Given the description of an element on the screen output the (x, y) to click on. 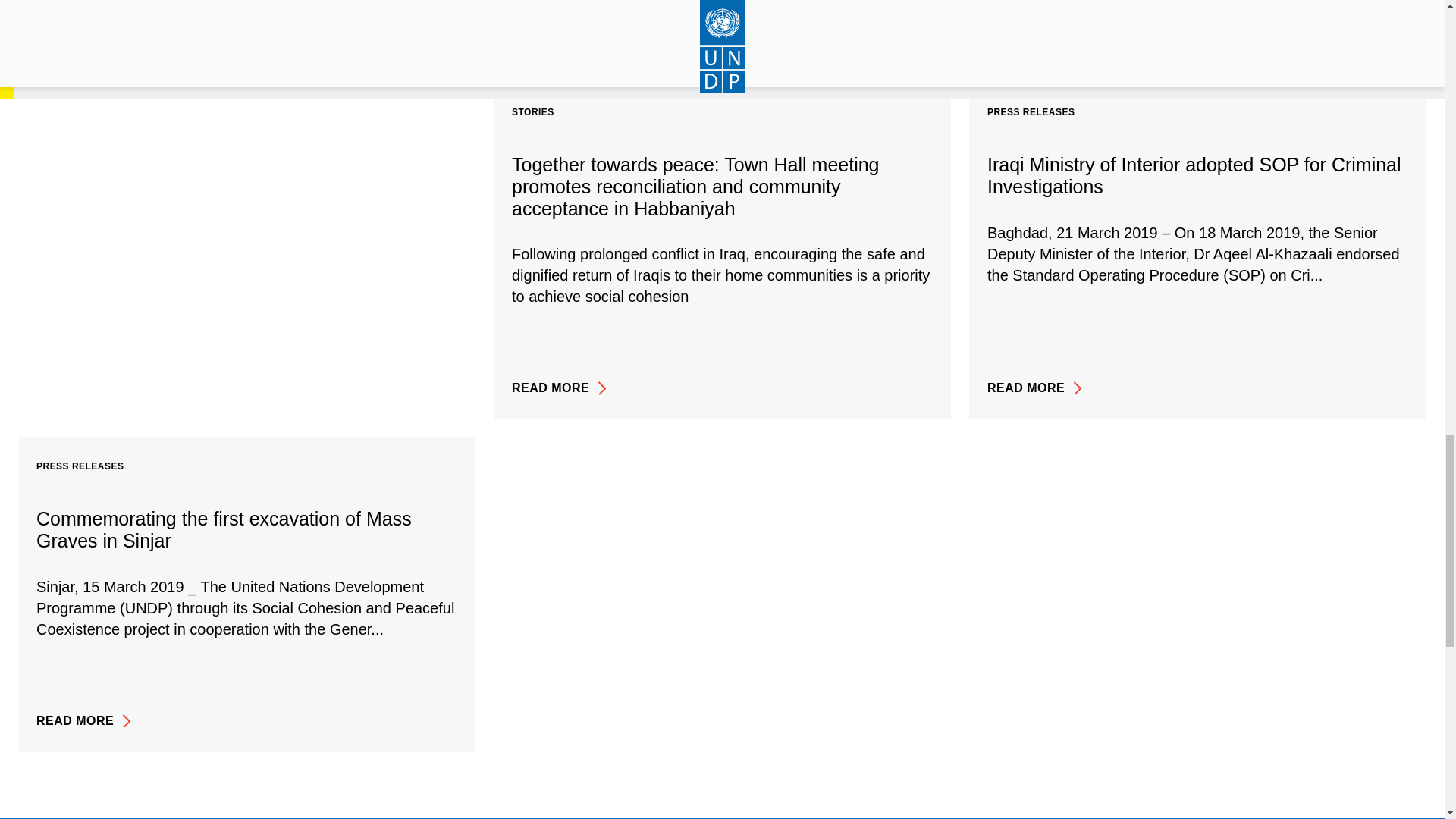
Miriam Pineau (418, 53)
